Given the description of an element on the screen output the (x, y) to click on. 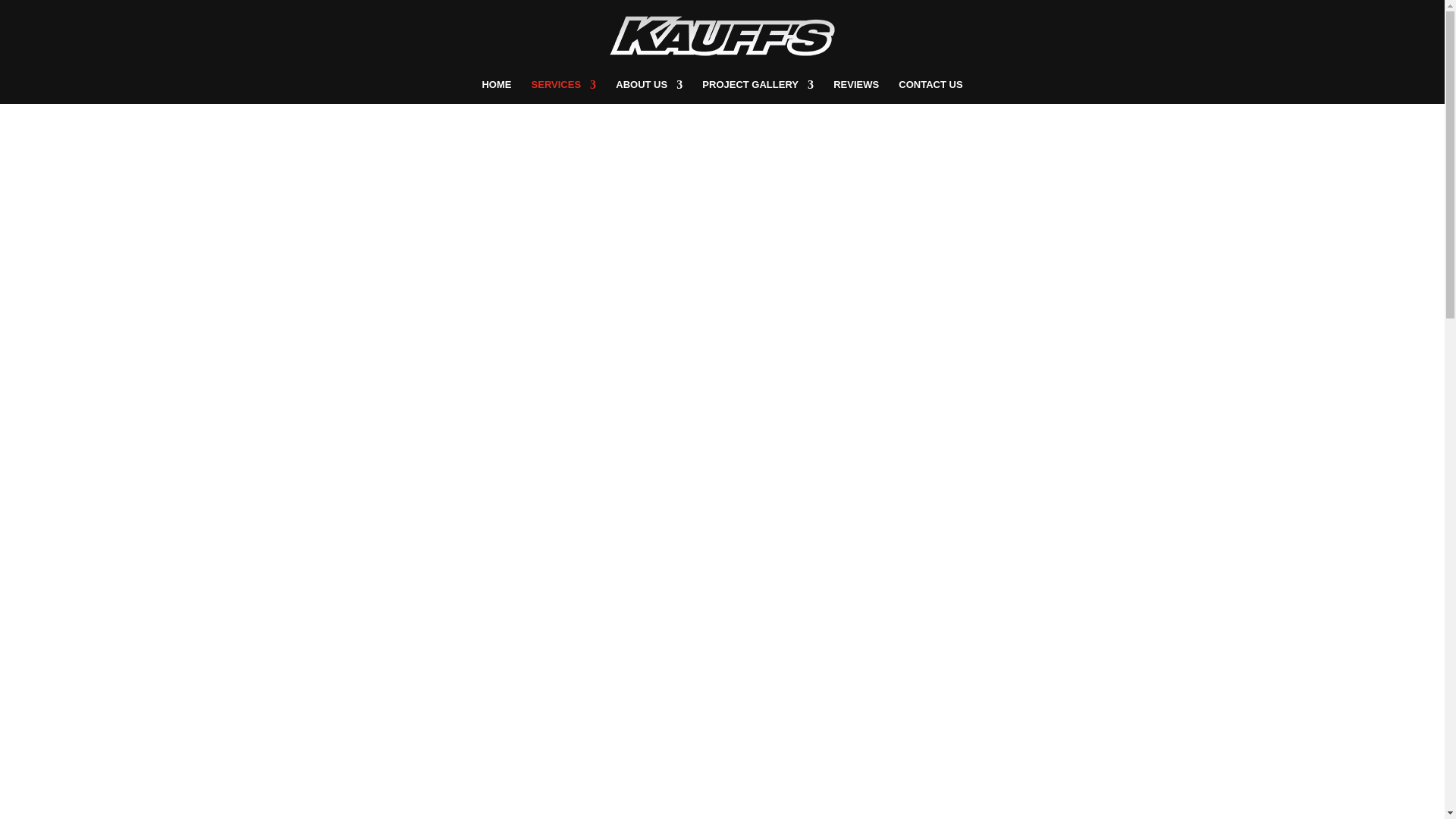
CONTACT US (930, 91)
PROJECT GALLERY (757, 91)
HOME (496, 91)
REVIEWS (855, 91)
ABOUT US (648, 91)
SERVICES (563, 91)
